Given the description of an element on the screen output the (x, y) to click on. 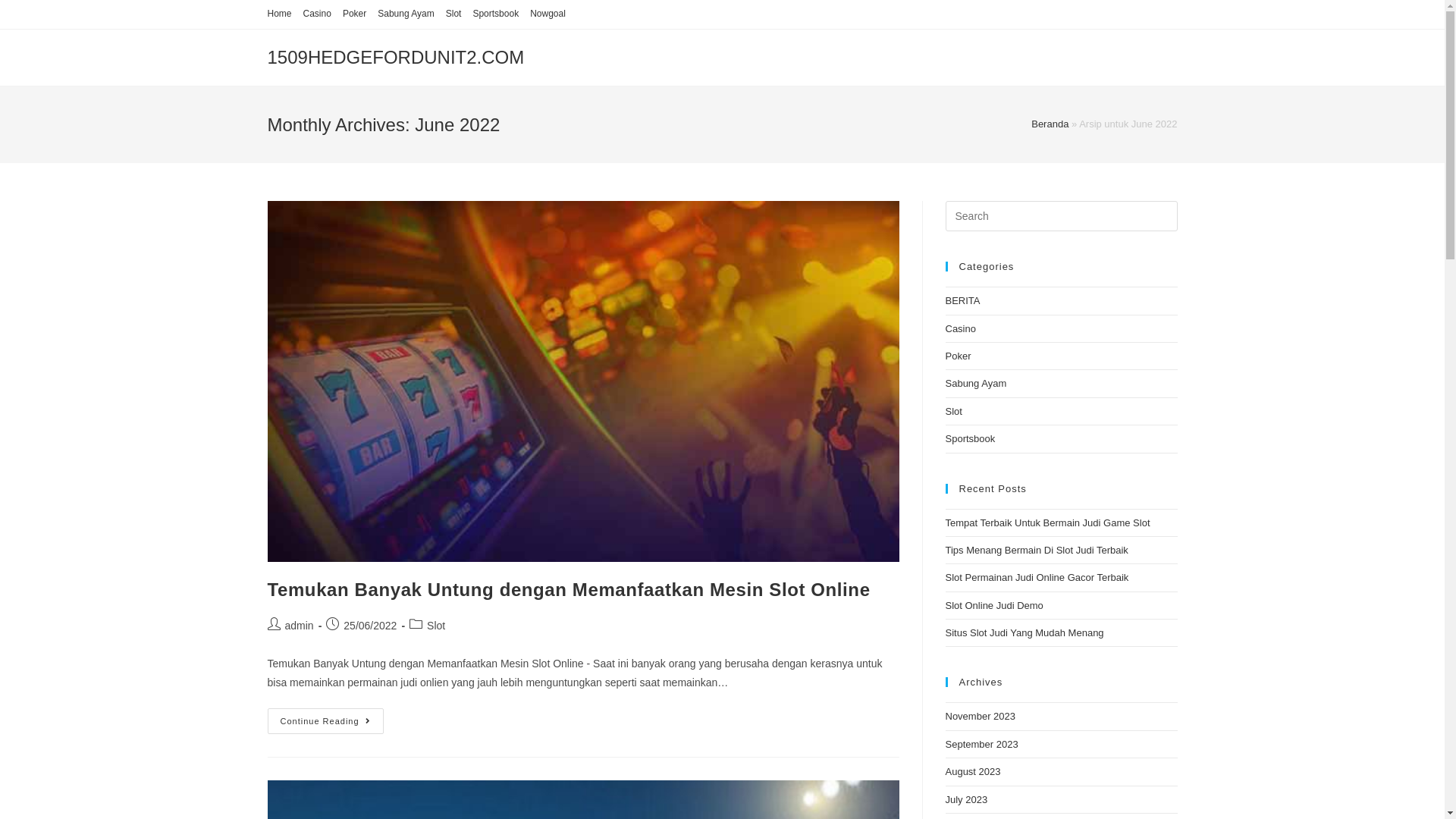
Nowgoal Element type: text (547, 14)
September 2023 Element type: text (980, 743)
Tempat Terbaik Untuk Bermain Judi Game Slot Element type: text (1046, 522)
Sportsbook Element type: text (495, 14)
Temukan Banyak Untung dengan Memanfaatkan Mesin Slot Online Element type: text (567, 589)
admin Element type: text (299, 625)
Poker Element type: text (957, 355)
Situs Slot Judi Yang Mudah Menang Element type: text (1023, 632)
Casino Element type: text (959, 328)
Sabung Ayam Element type: text (405, 14)
November 2023 Element type: text (979, 715)
Slot Element type: text (952, 411)
July 2023 Element type: text (965, 799)
Slot Permainan Judi Online Gacor Terbaik Element type: text (1036, 577)
Sportsbook Element type: text (969, 438)
Slot Element type: text (435, 625)
Poker Element type: text (354, 14)
Slot Online Judi Demo Element type: text (993, 605)
Tips Menang Bermain Di Slot Judi Terbaik Element type: text (1035, 549)
August 2023 Element type: text (972, 771)
BERITA Element type: text (961, 300)
1509HEDGEFORDUNIT2.COM Element type: text (395, 57)
Casino Element type: text (317, 14)
Sabung Ayam Element type: text (975, 383)
Home Element type: text (278, 14)
Beranda Element type: text (1049, 123)
Slot Element type: text (453, 14)
